Given the description of an element on the screen output the (x, y) to click on. 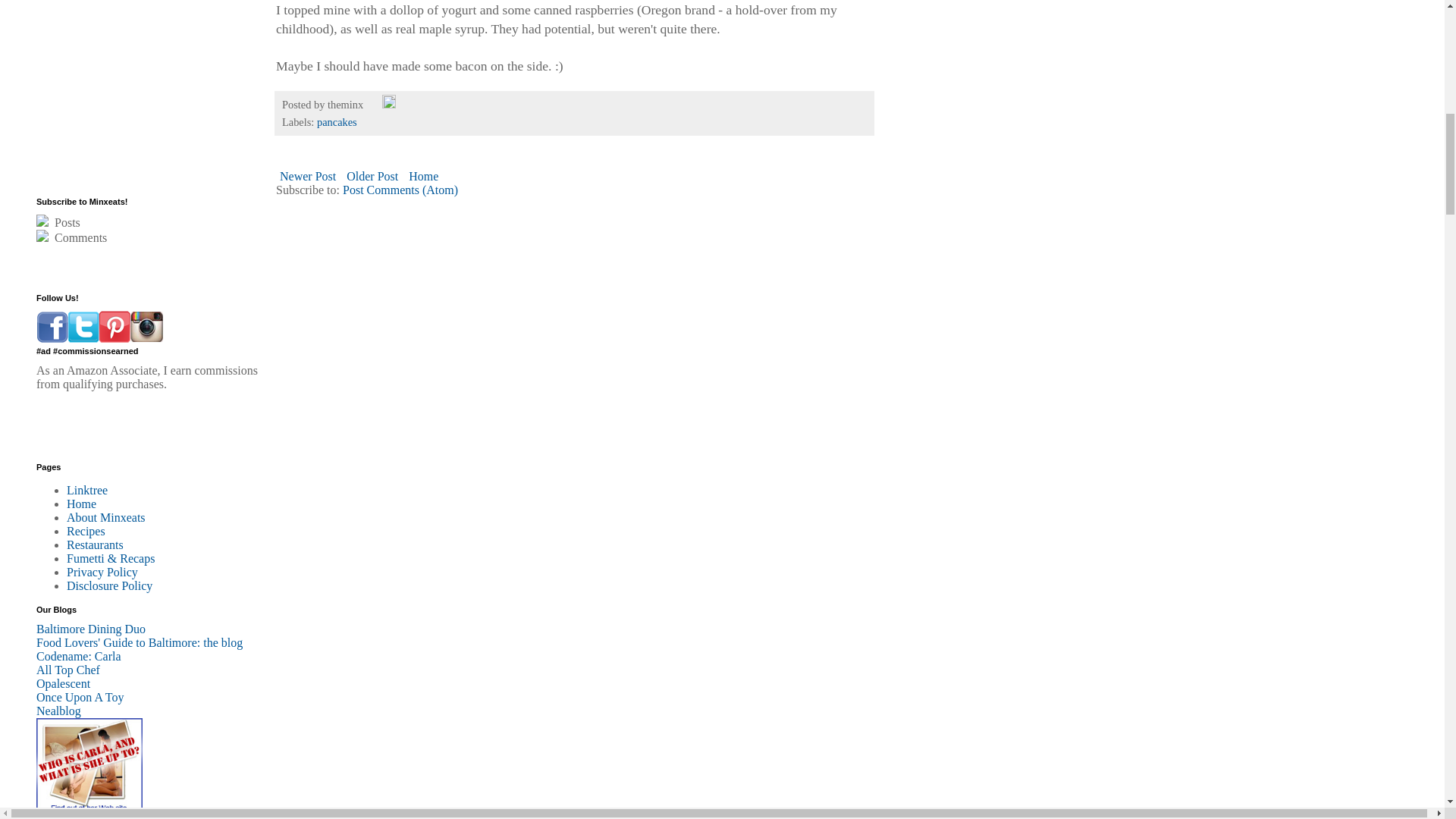
Older Post (371, 176)
Home (423, 176)
Edit Post (388, 104)
Newer Post (307, 176)
All Top Chef (68, 669)
Home (81, 503)
Codename: Carla (78, 656)
Opalescent (63, 683)
Once Upon A Toy (79, 697)
Restaurants (94, 544)
pancakes (336, 121)
Older Post (371, 176)
Food Lovers' Guide to Baltimore: the blog (139, 642)
Linktree (86, 490)
Email Post (374, 104)
